Given the description of an element on the screen output the (x, y) to click on. 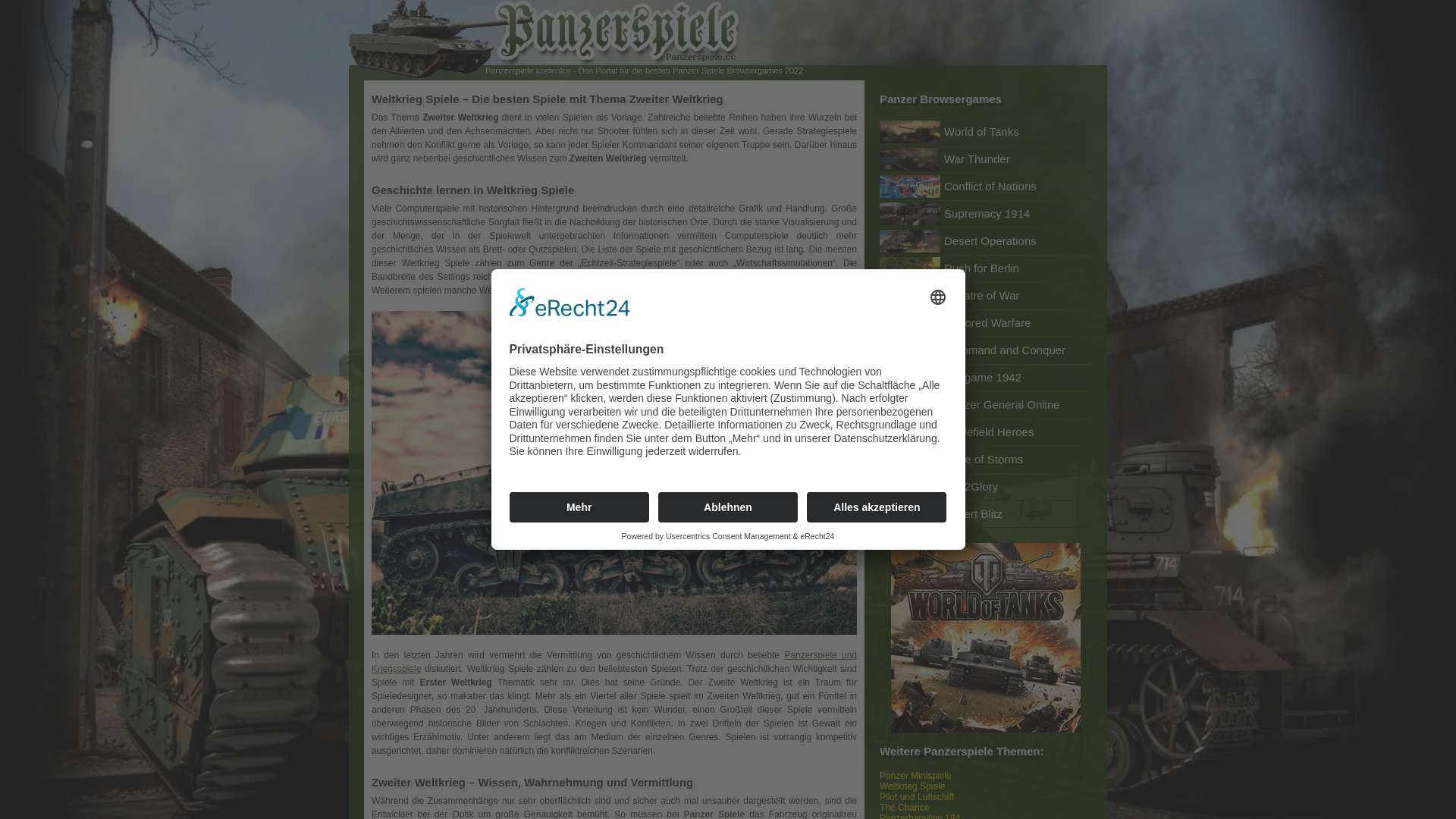
War Thunder Element type: text (985, 159)
Armored Warfare Element type: text (985, 322)
Panzerspiele und Kriegsspiele Element type: text (613, 661)
Rage of Storms Element type: text (985, 459)
Battlefield Heroes Element type: text (985, 432)
Panzer Minispiele Element type: text (915, 775)
Theatre of War Element type: text (985, 295)
World of Tanks Element type: text (985, 131)
Desert Operations Element type: text (985, 241)
Supremacy 1914 Element type: text (985, 213)
Conflict of Nations Element type: text (985, 186)
Wargame 1942 Element type: text (985, 377)
Rush for Berlin Element type: text (985, 268)
Command and Conquer Element type: text (985, 350)
The Chance Element type: text (903, 807)
Panzer General Online Element type: text (985, 404)
Weltkrieg Spiele Element type: text (911, 786)
War2Glory Element type: text (985, 486)
Pilot und Luftschiff Element type: text (916, 796)
Desert Blitz Element type: text (985, 514)
